Given the description of an element on the screen output the (x, y) to click on. 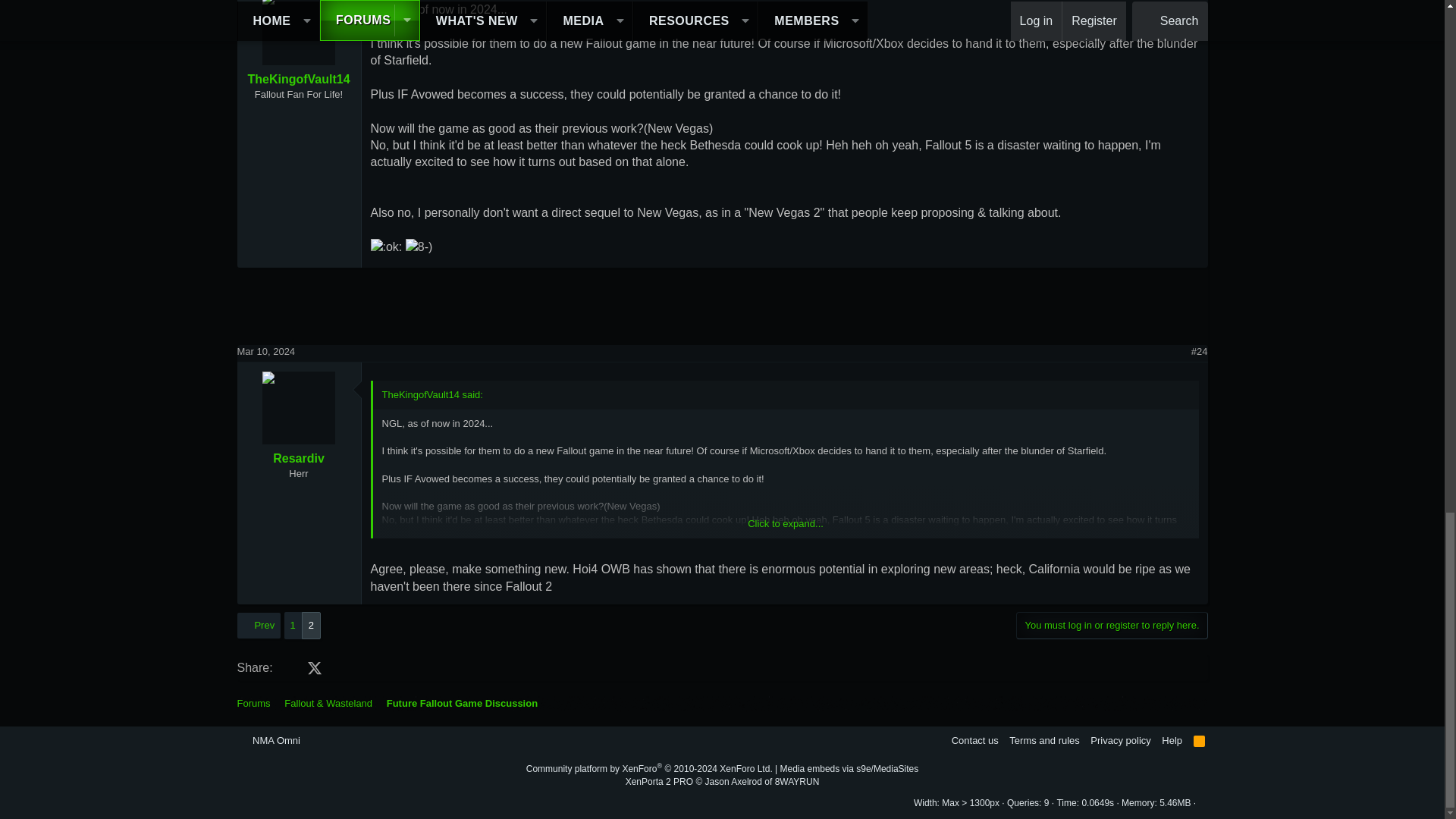
Responsive width (957, 802)
Style variation (313, 739)
Thumbs up    :ok: (385, 247)
RSS (1199, 740)
Mar 10, 2024 at 10:28 PM (265, 351)
